Given the description of an element on the screen output the (x, y) to click on. 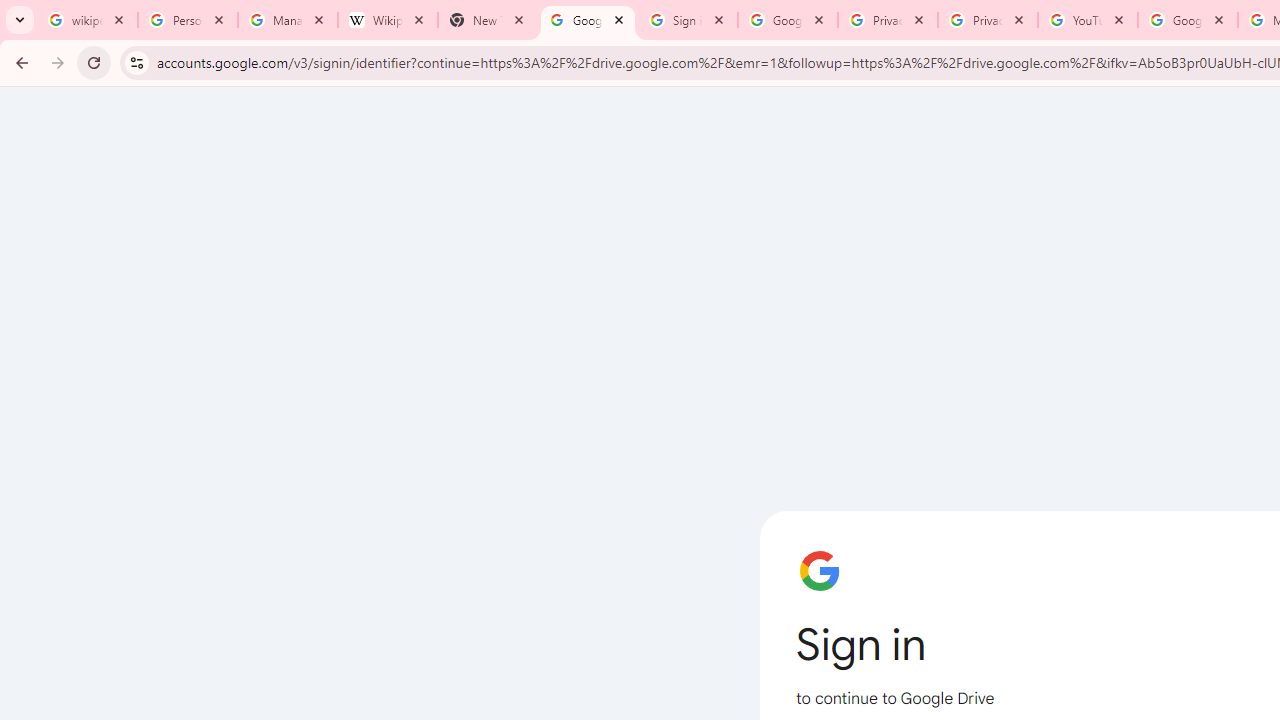
New Tab (487, 20)
Sign in - Google Accounts (687, 20)
Manage your Location History - Google Search Help (287, 20)
